Given the description of an element on the screen output the (x, y) to click on. 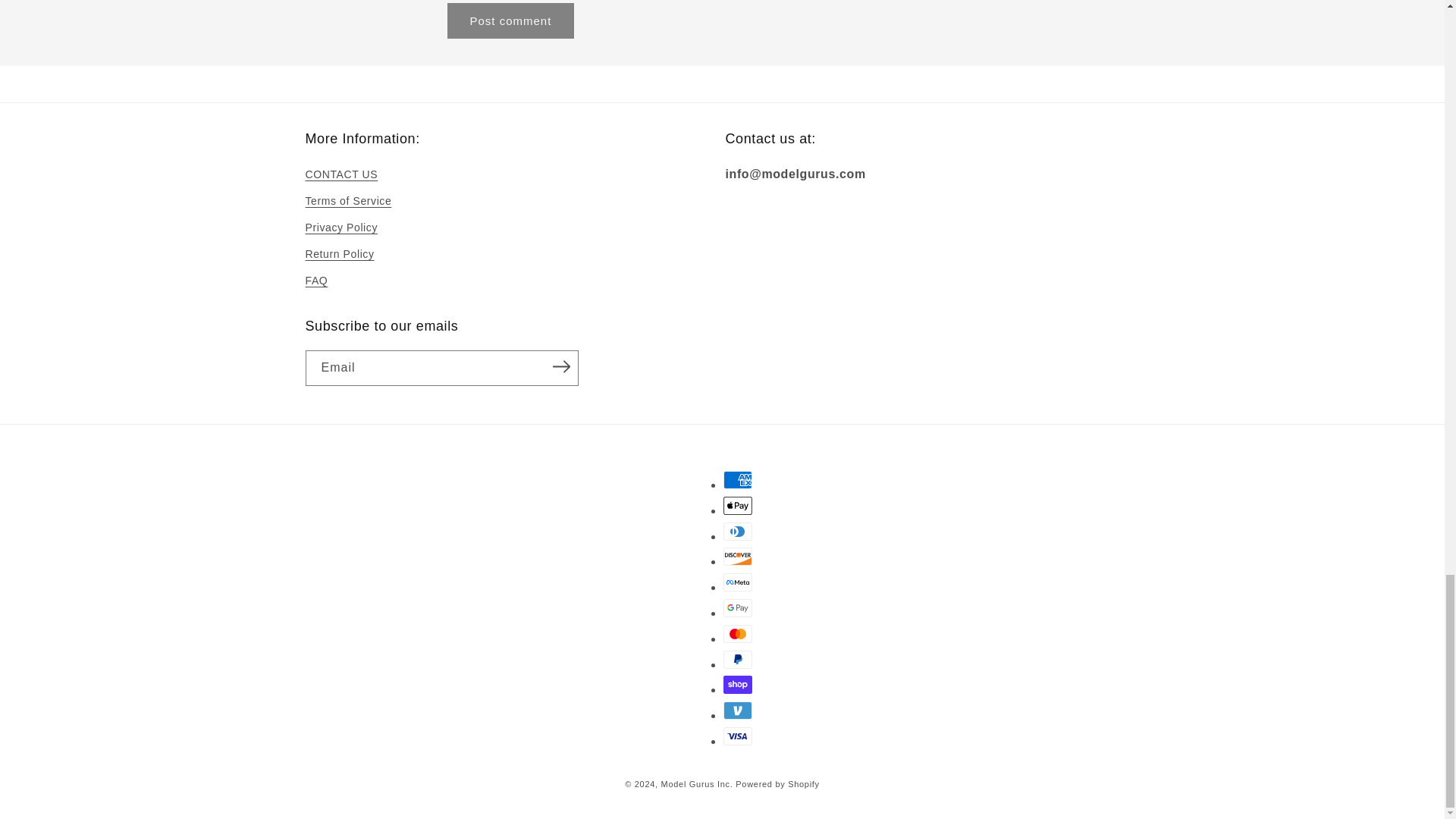
Powered by Shopify (776, 783)
Meta Pay (737, 582)
Visa (737, 736)
Model Gurus Inc. (698, 783)
Mastercard (737, 633)
Shop Pay (737, 684)
Apple Pay (737, 505)
Diners Club (737, 531)
Terms of Service (347, 201)
CONTACT US (340, 176)
